Given the description of an element on the screen output the (x, y) to click on. 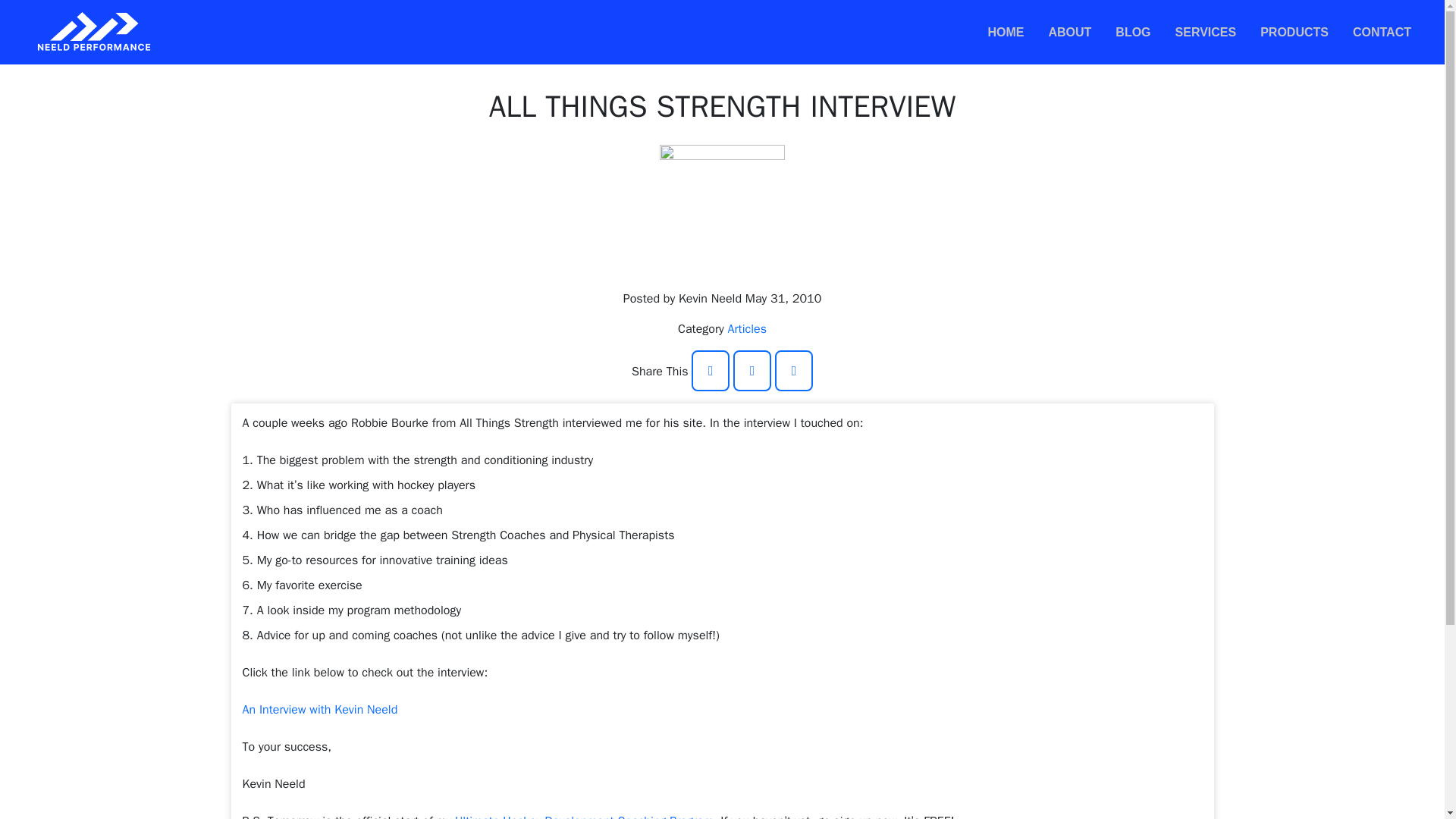
PRODUCTS (1293, 32)
An Interview with Kevin Neeld (320, 709)
Articles (747, 328)
Ultimate Hockey Development Coaching Program (583, 816)
SERVICES (1206, 32)
BLOG (1132, 32)
ABOUT (1069, 32)
HOME (1005, 32)
Ultimate Hockey Development Coaching Program (583, 816)
CONTACT (1381, 32)
An Interview with Kevin Neeld (320, 709)
